Given the description of an element on the screen output the (x, y) to click on. 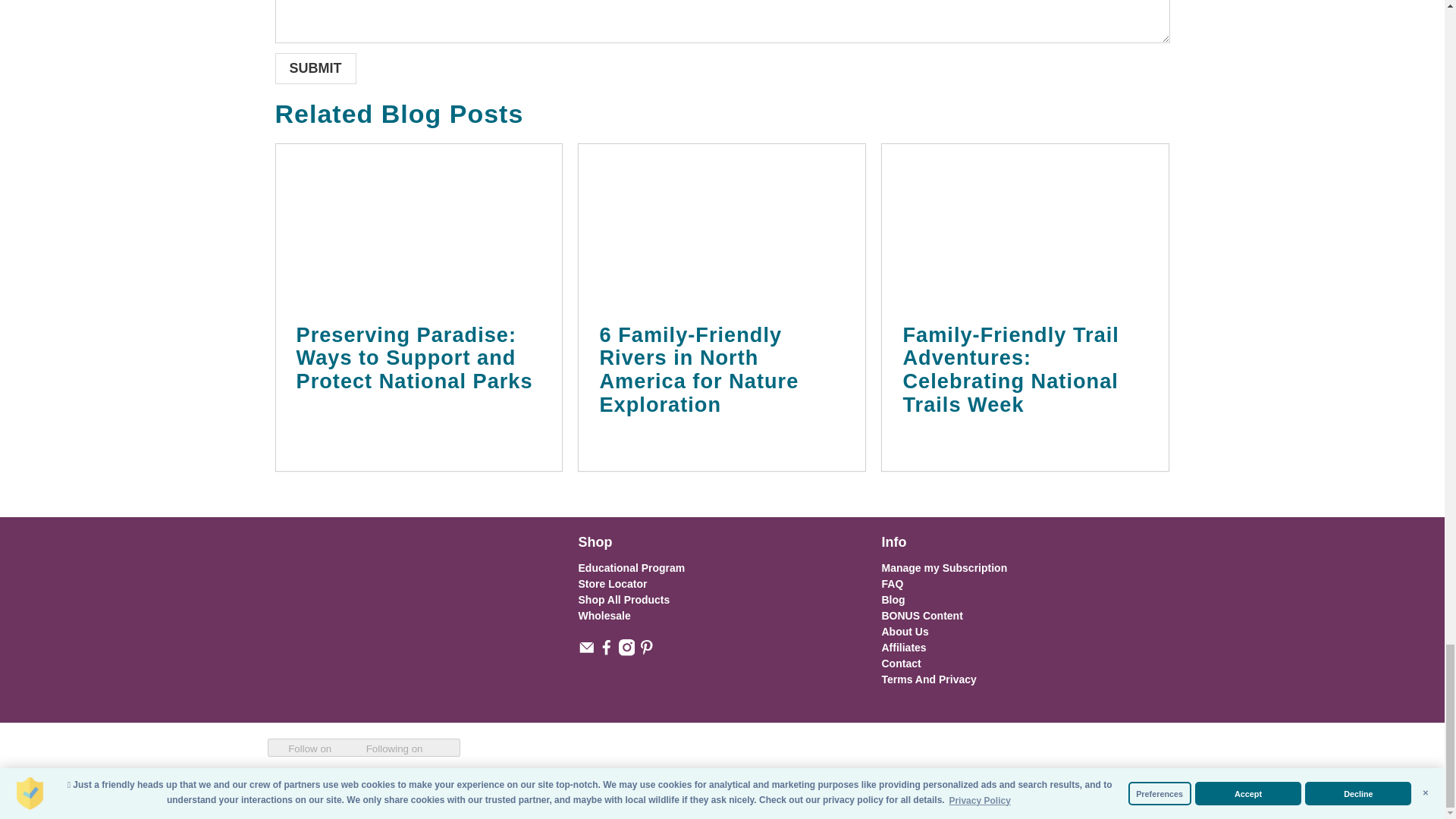
Discover (1031, 788)
Apple Pay (966, 788)
Diners Club (999, 788)
American Express (934, 788)
Mastercard (1097, 788)
Google Pay (1063, 788)
Submit (315, 68)
